Given the description of an element on the screen output the (x, y) to click on. 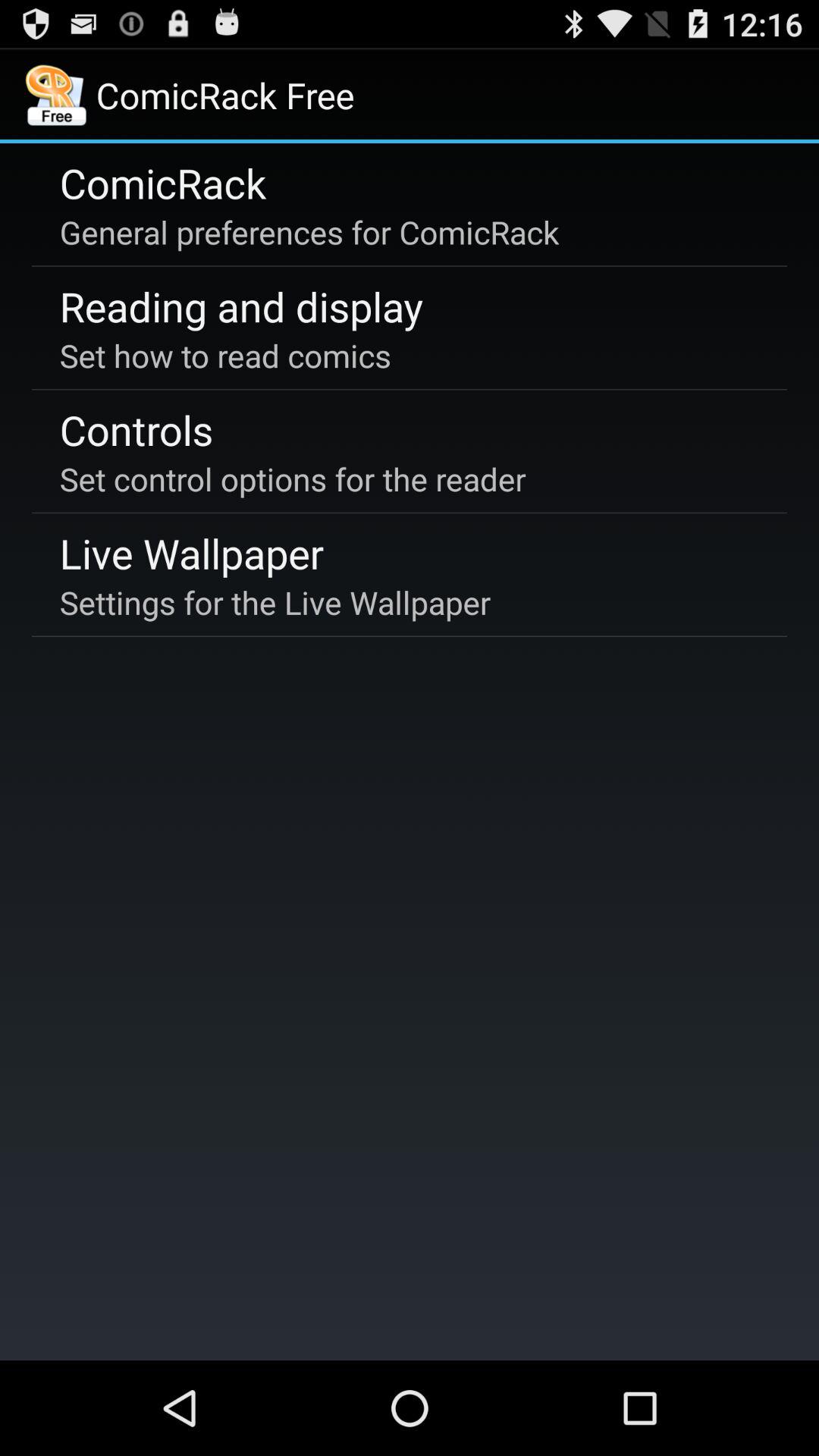
turn on app below the general preferences for item (241, 305)
